Given the description of an element on the screen output the (x, y) to click on. 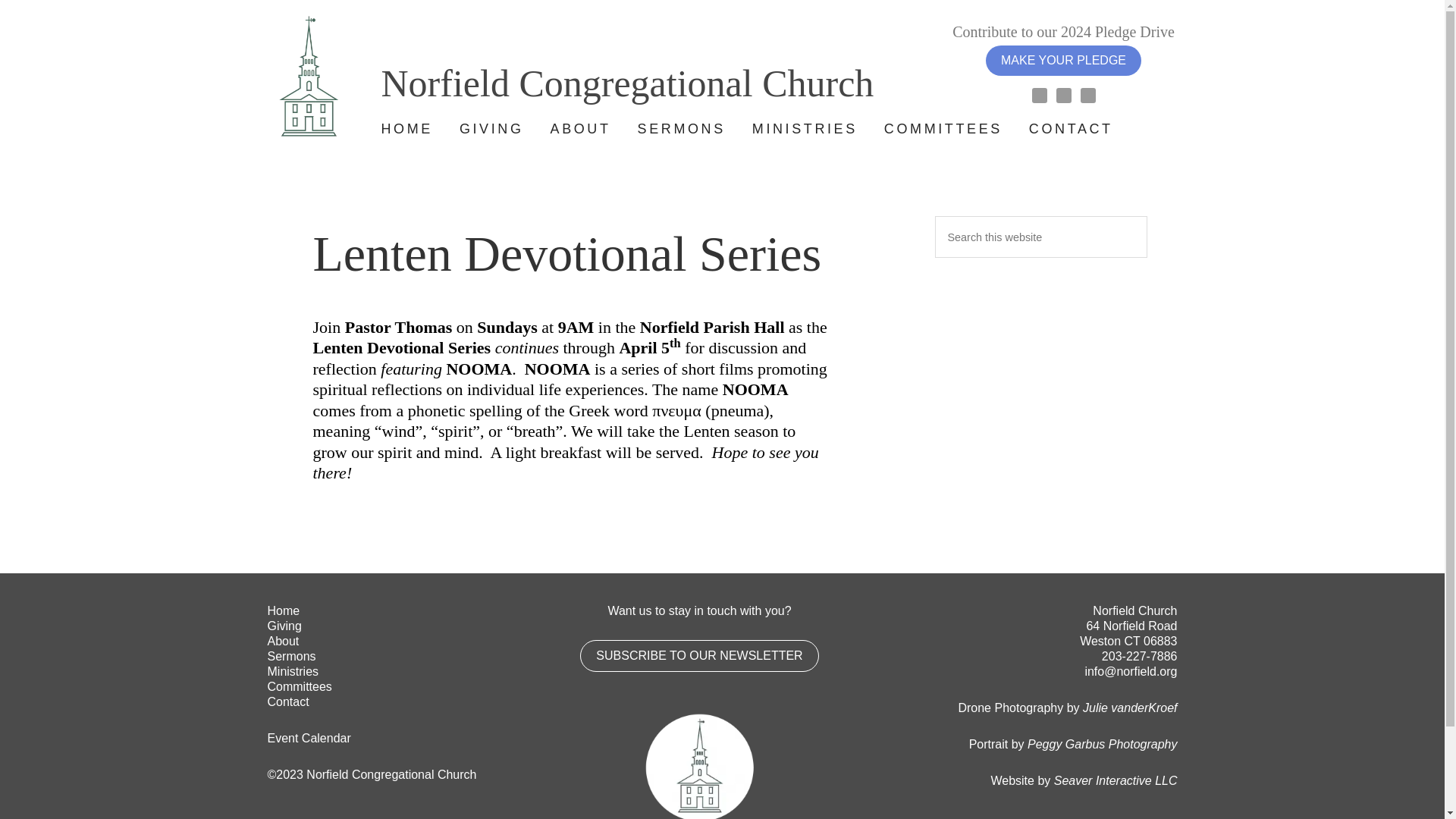
Norfield Congregational Church (607, 60)
HOME (406, 129)
COMMITTEES (942, 129)
MAKE YOUR PLEDGE (1063, 60)
MINISTRIES (805, 129)
ABOUT (580, 129)
SERMONS (681, 129)
GIVING (491, 129)
